Given the description of an element on the screen output the (x, y) to click on. 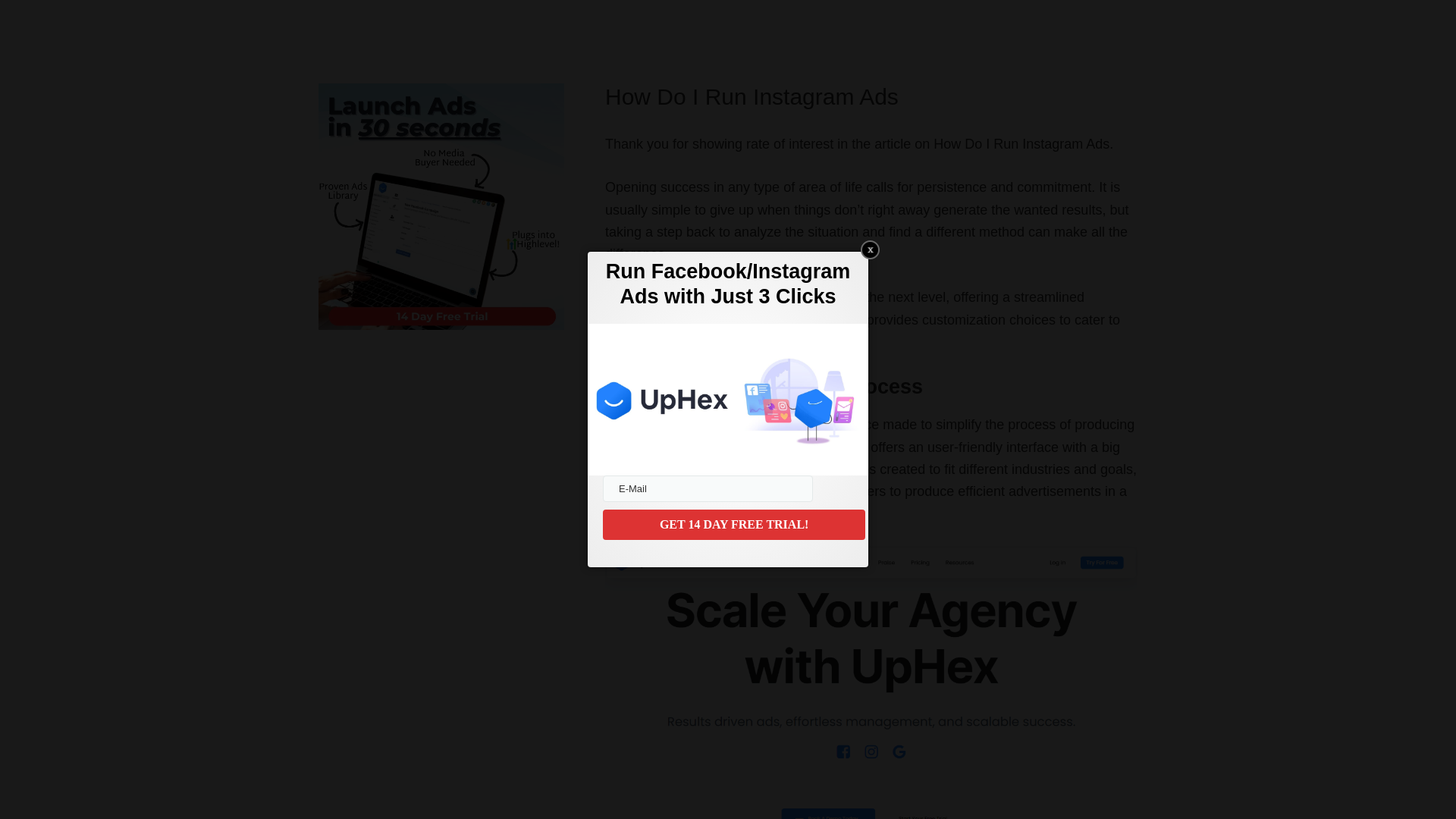
GET 14 DAY FREE TRIAL! (733, 524)
GET 14 DAY FREE TRIAL! (733, 524)
